Given the description of an element on the screen output the (x, y) to click on. 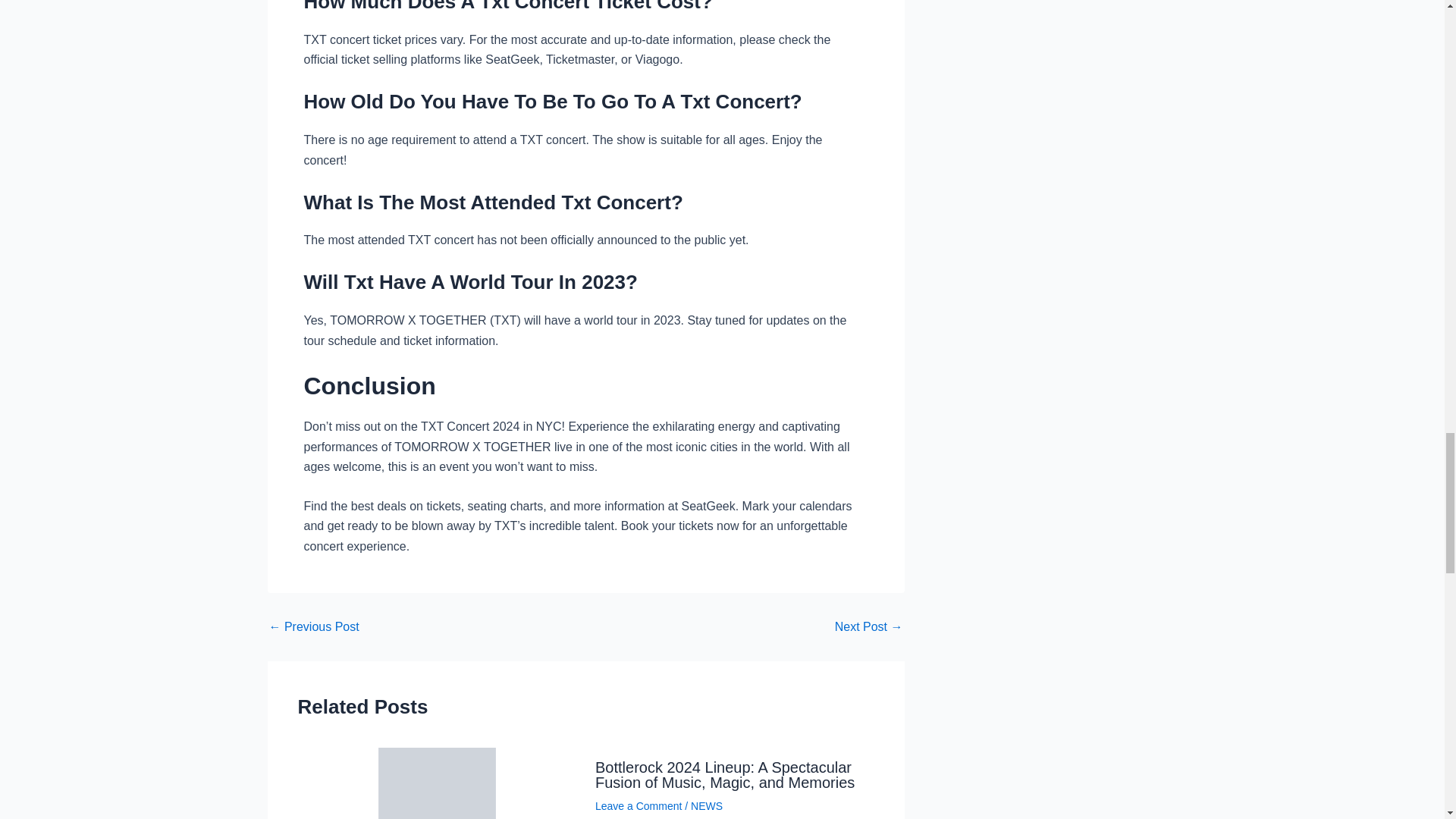
Blossom Lineup 2024: Unforgettable Performances Await (868, 626)
